Given the description of an element on the screen output the (x, y) to click on. 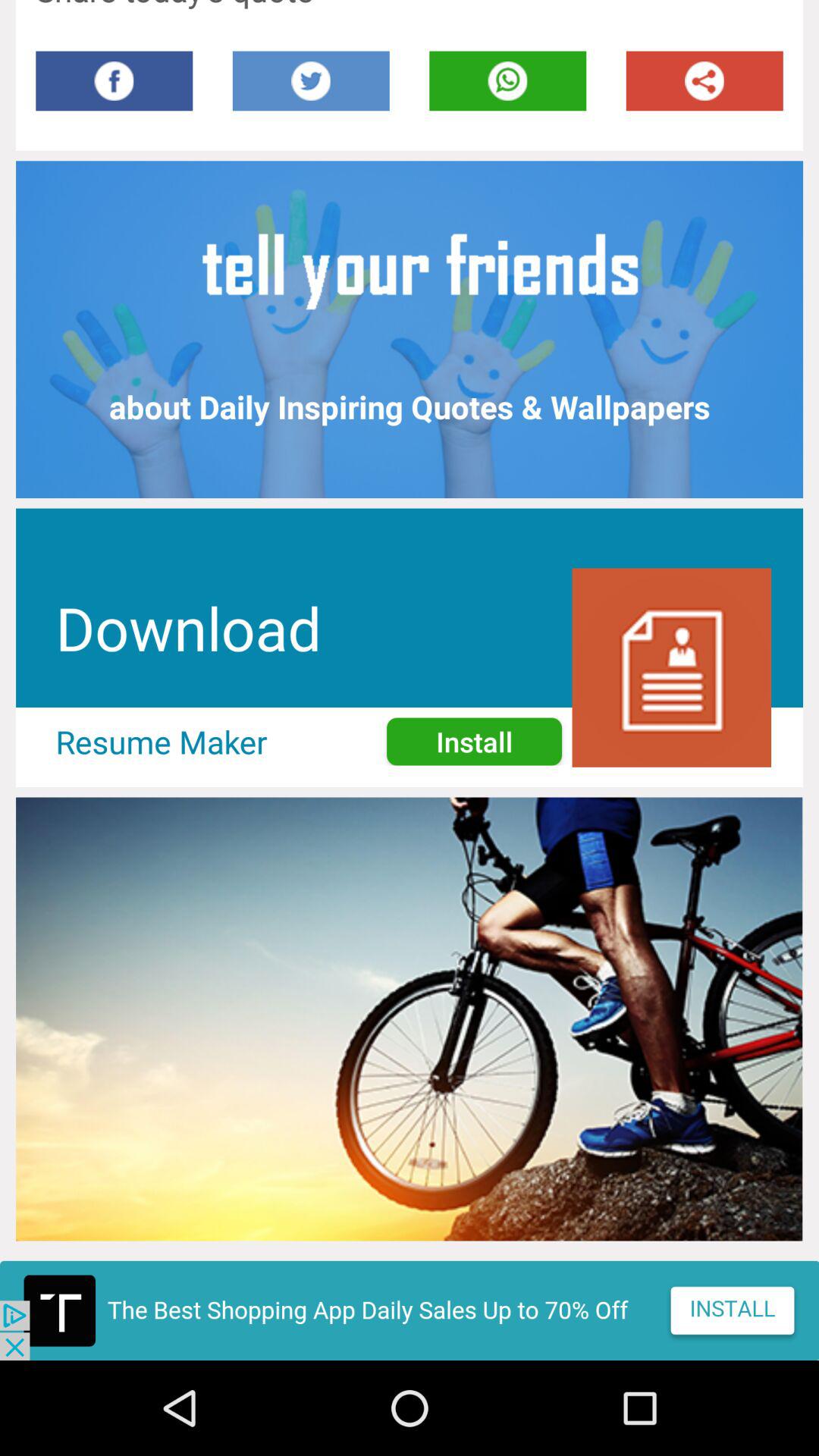
share (704, 80)
